Given the description of an element on the screen output the (x, y) to click on. 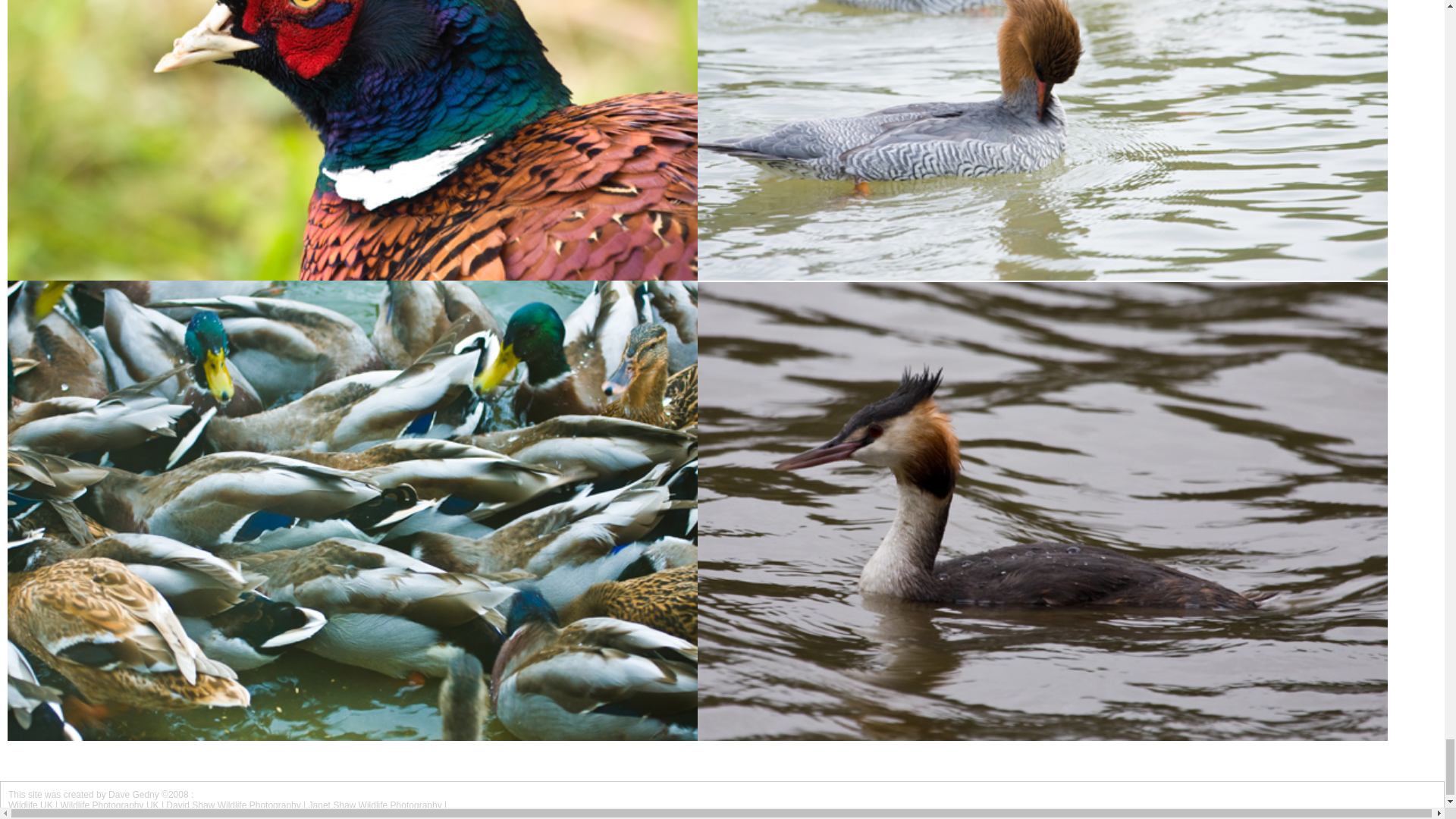
Wildlife Photography UK (108, 805)
UK Wildlife Photography (30, 805)
Janet Shaw Wildlife Photography (375, 805)
Janet Shaw Wildlife Photography (375, 805)
Wildlife UK (30, 805)
Wildlife Photography UK (108, 805)
David Shaw Wildlife Photography (232, 805)
David Shaw Wildlife Photography (232, 805)
